Given the description of an element on the screen output the (x, y) to click on. 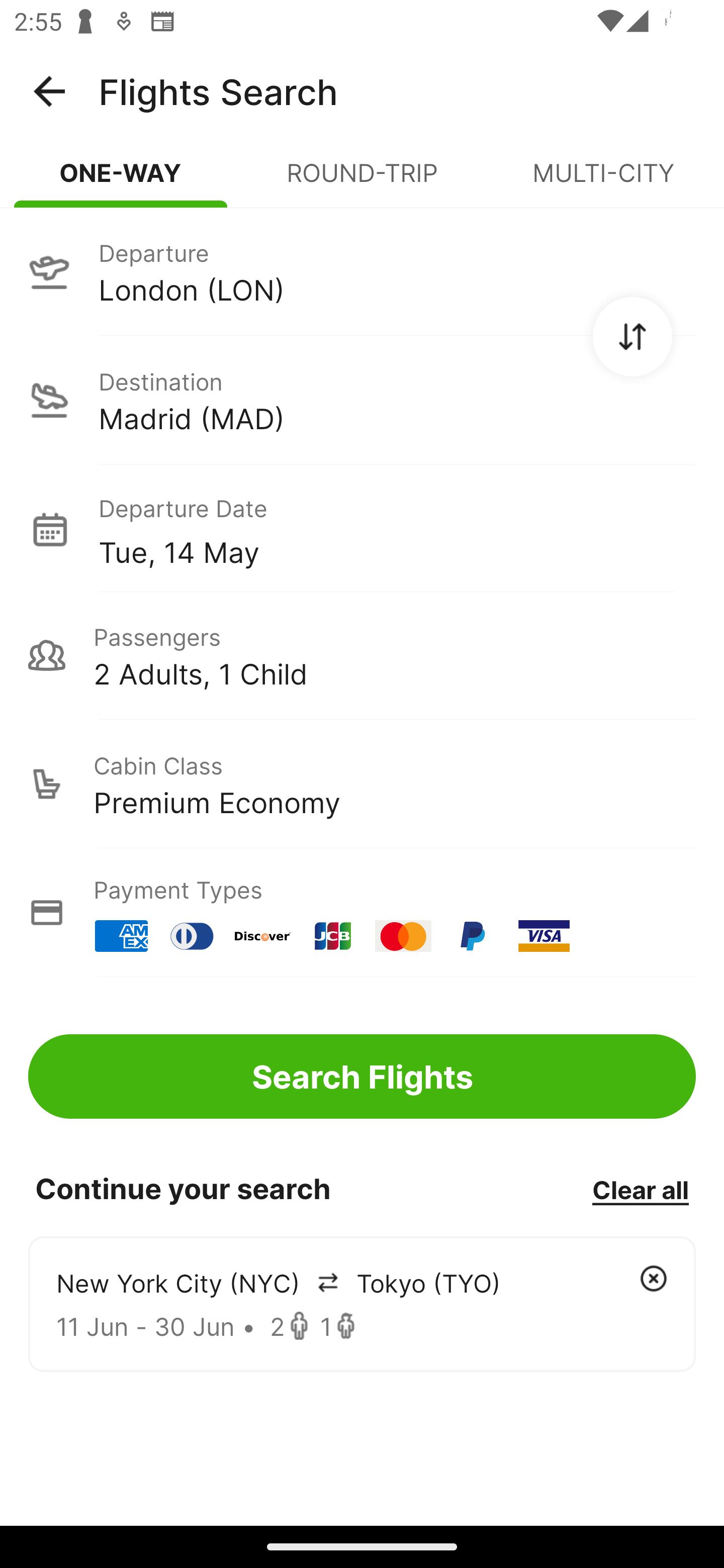
ONE-WAY (120, 180)
ROUND-TRIP (361, 180)
MULTI-CITY (603, 180)
Departure London (LON) (362, 270)
Destination Madrid (MAD) (362, 400)
Departure Date Tue, 14 May (396, 528)
Passengers 2 Adults, 1 Child (362, 655)
Cabin Class Premium Economy (362, 783)
Payment Types (362, 912)
Search Flights (361, 1075)
Clear all (640, 1189)
